Given the description of an element on the screen output the (x, y) to click on. 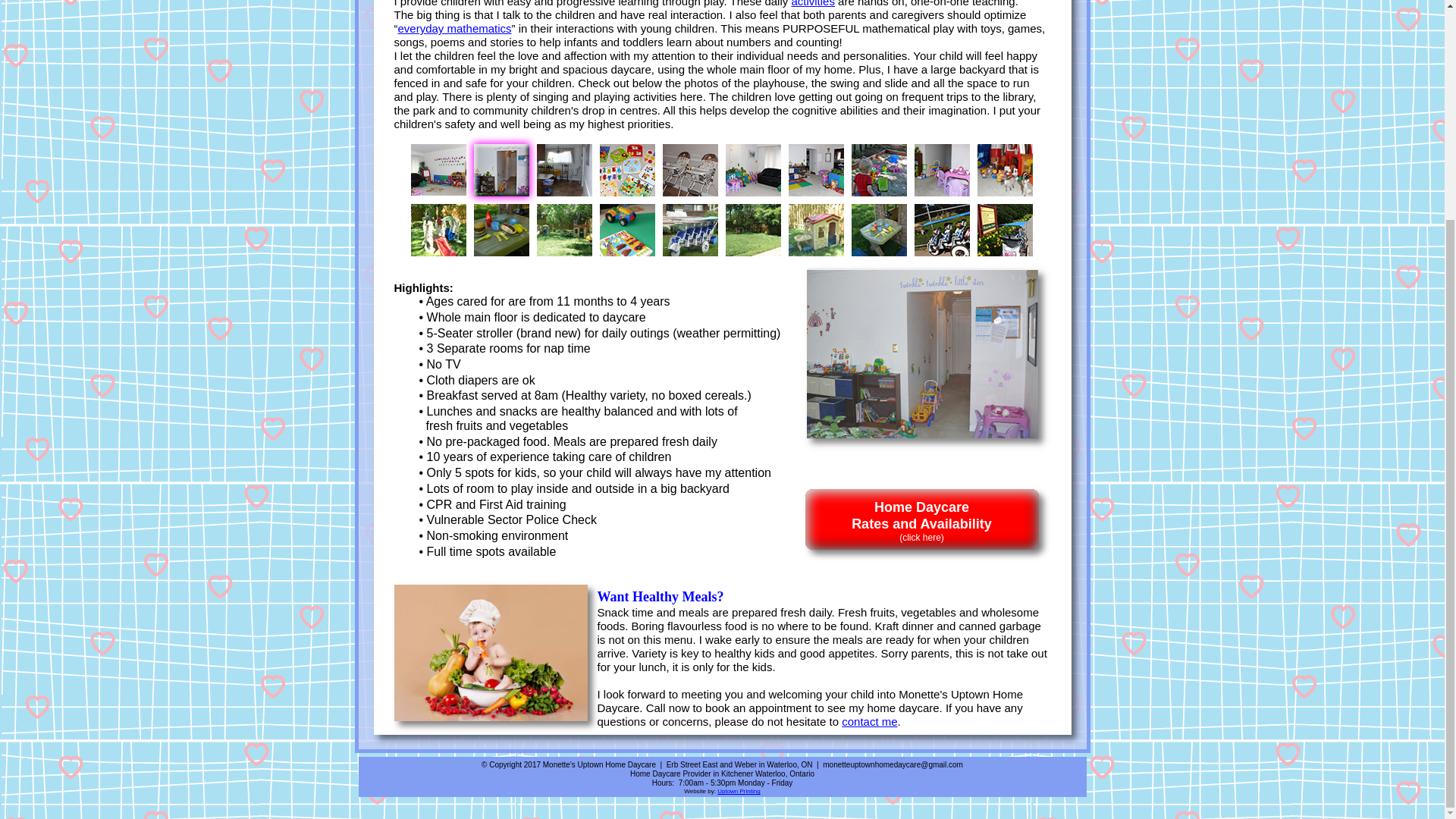
Home Daycare - Click to show bigger (500, 229)
Home Daycare - Click to show bigger (689, 229)
What's on the Menu? (491, 652)
Home Daycare - Click to show bigger (564, 169)
Home Daycare - Click to show bigger (816, 170)
Uptown Printing (738, 790)
Home Daycare - Click to show bigger (625, 229)
Home Daycare - Click to show bigger (564, 229)
everyday mathematics (454, 28)
Home Daycare - Click to show bigger (816, 229)
Home Daycare - Click to show bigger (752, 170)
Home Daycare - Click to show bigger (941, 170)
Home Daycare - Click to show bigger (437, 229)
Home Daycare - Click to show bigger (752, 229)
contact me (868, 721)
